Given the description of an element on the screen output the (x, y) to click on. 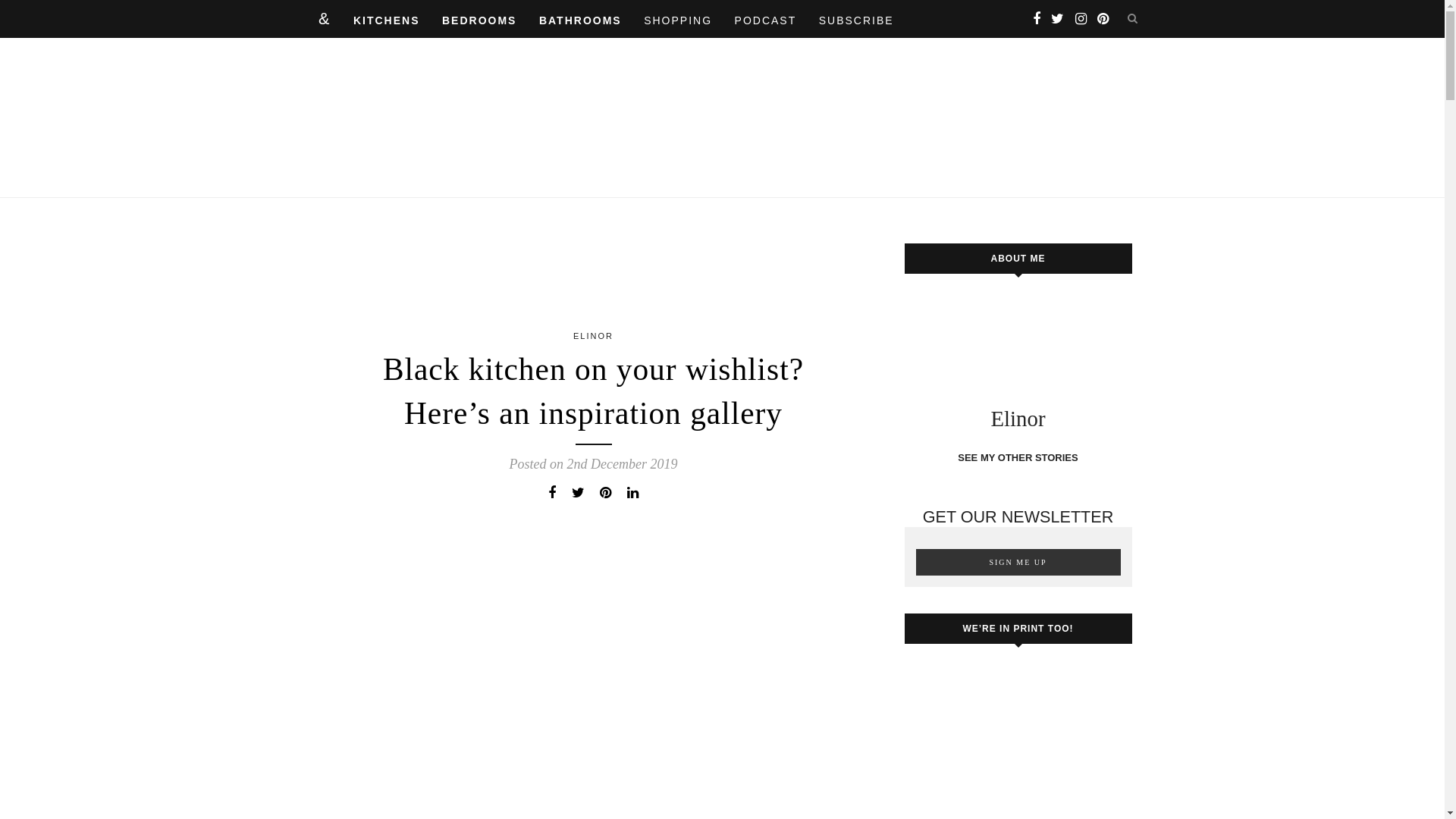
SUBSCRIBE (855, 20)
BEDROOMS (479, 20)
SHOPPING (677, 20)
KITCHENS (386, 20)
BATHROOMS (579, 20)
SIGN ME UP (1018, 561)
Posts by Elinor (592, 335)
ELINOR (592, 335)
PODCAST (765, 20)
